Given the description of an element on the screen output the (x, y) to click on. 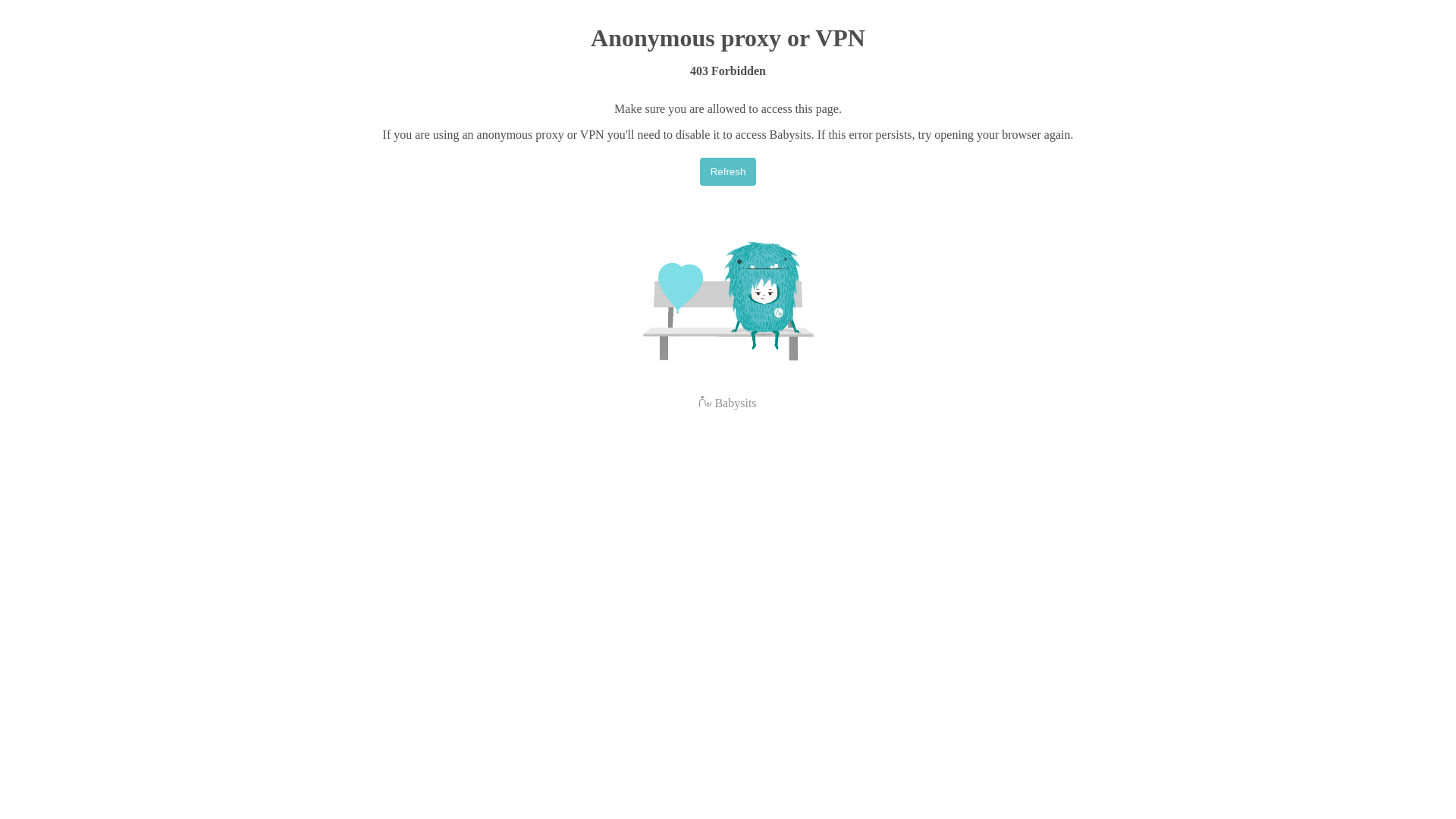
Refresh Element type: text (727, 171)
